Given the description of an element on the screen output the (x, y) to click on. 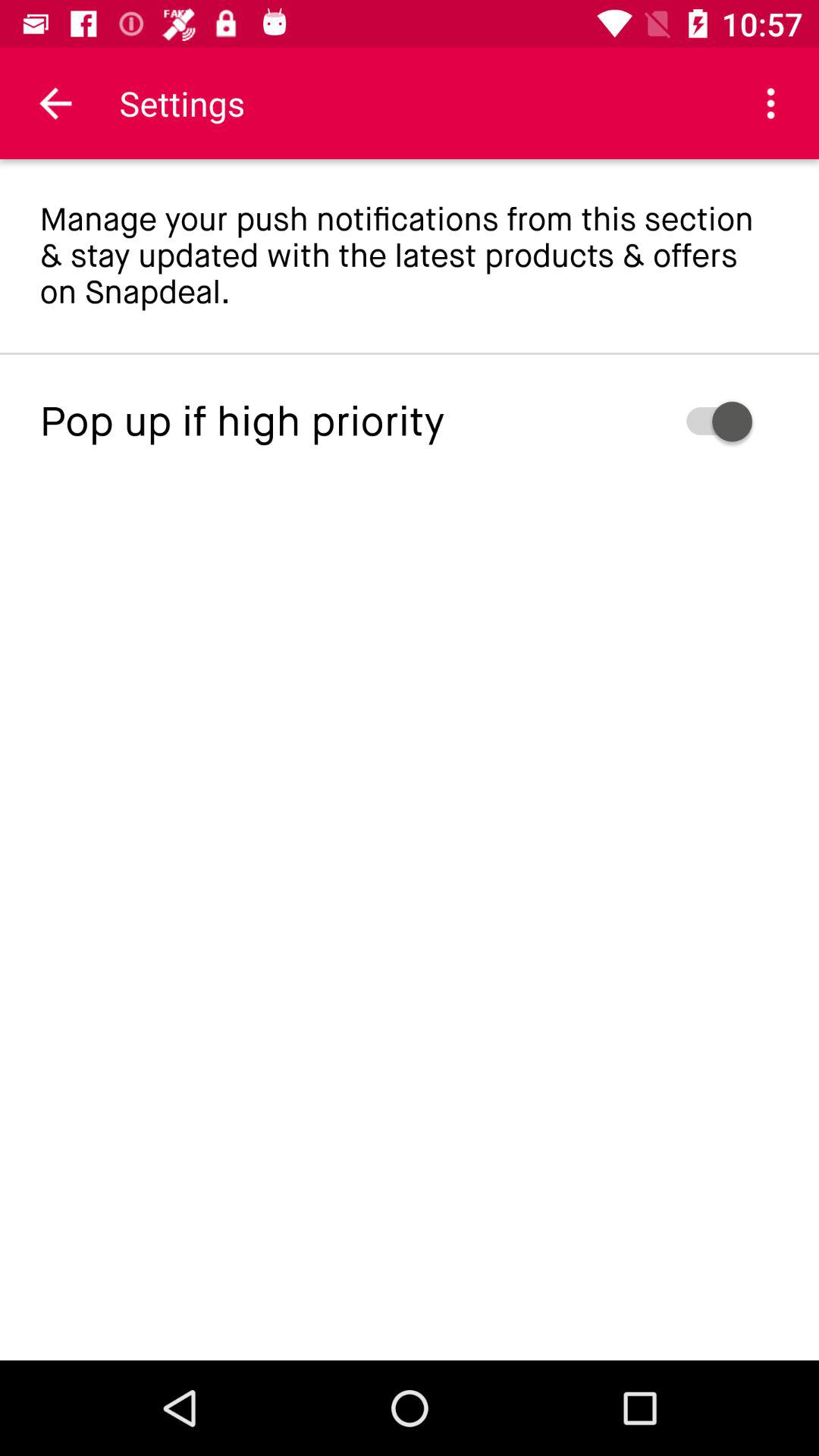
turn on icon to the right of the pop up if (669, 421)
